Given the description of an element on the screen output the (x, y) to click on. 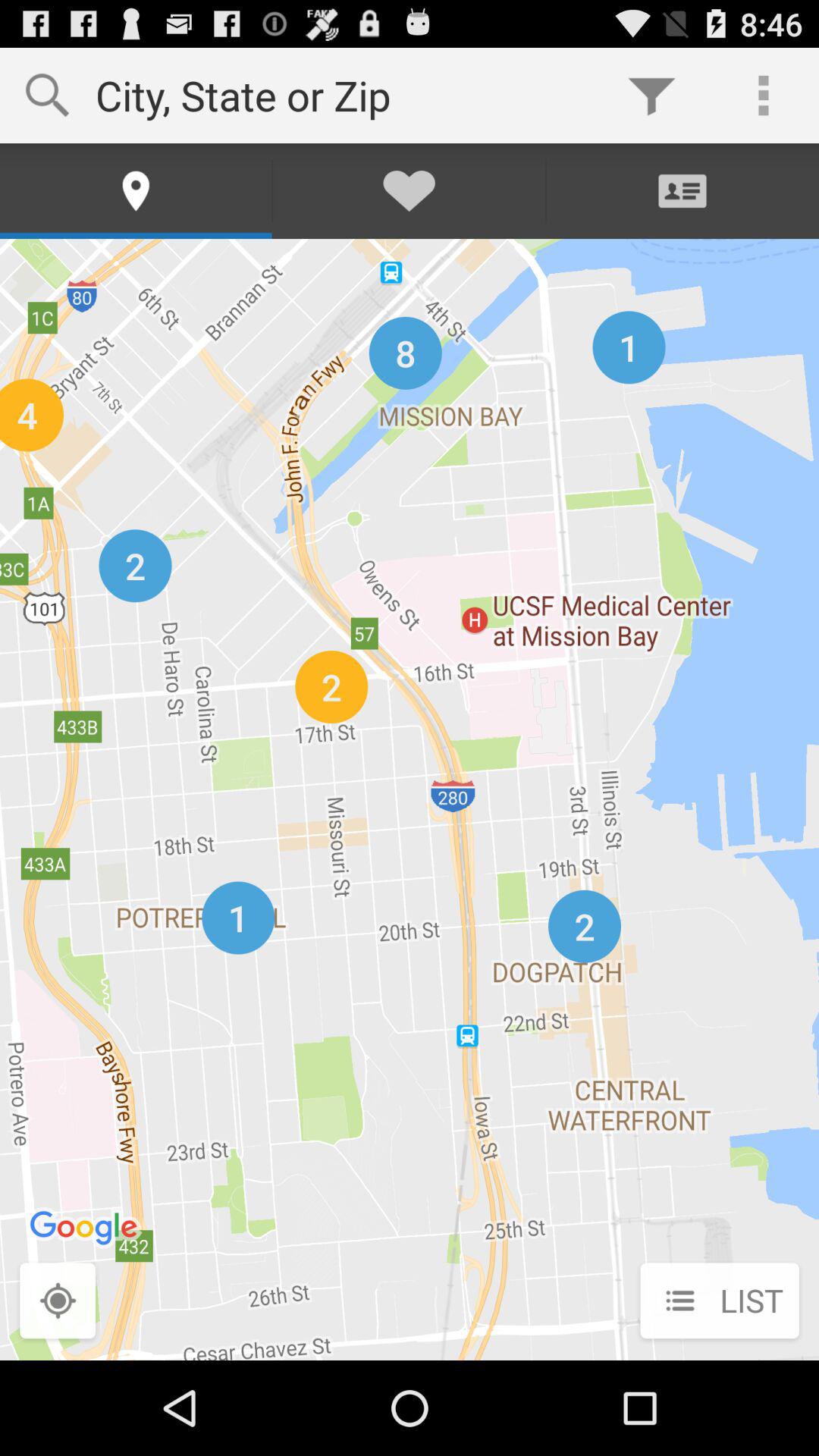
tap item to the right of city state or app (651, 95)
